Given the description of an element on the screen output the (x, y) to click on. 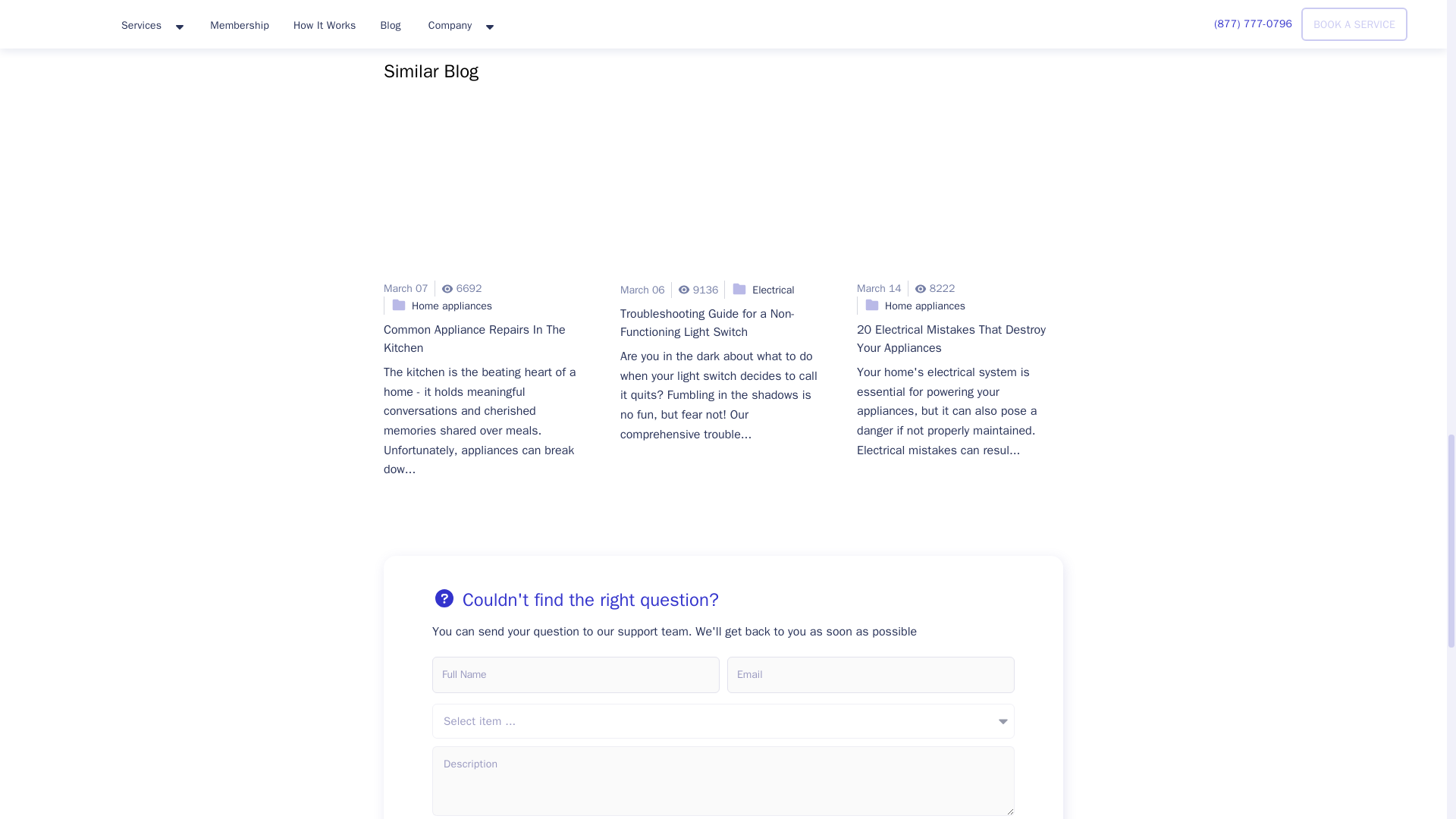
Blog (486, 194)
Select item ... (723, 720)
Blog (959, 194)
Blog (723, 194)
